Given the description of an element on the screen output the (x, y) to click on. 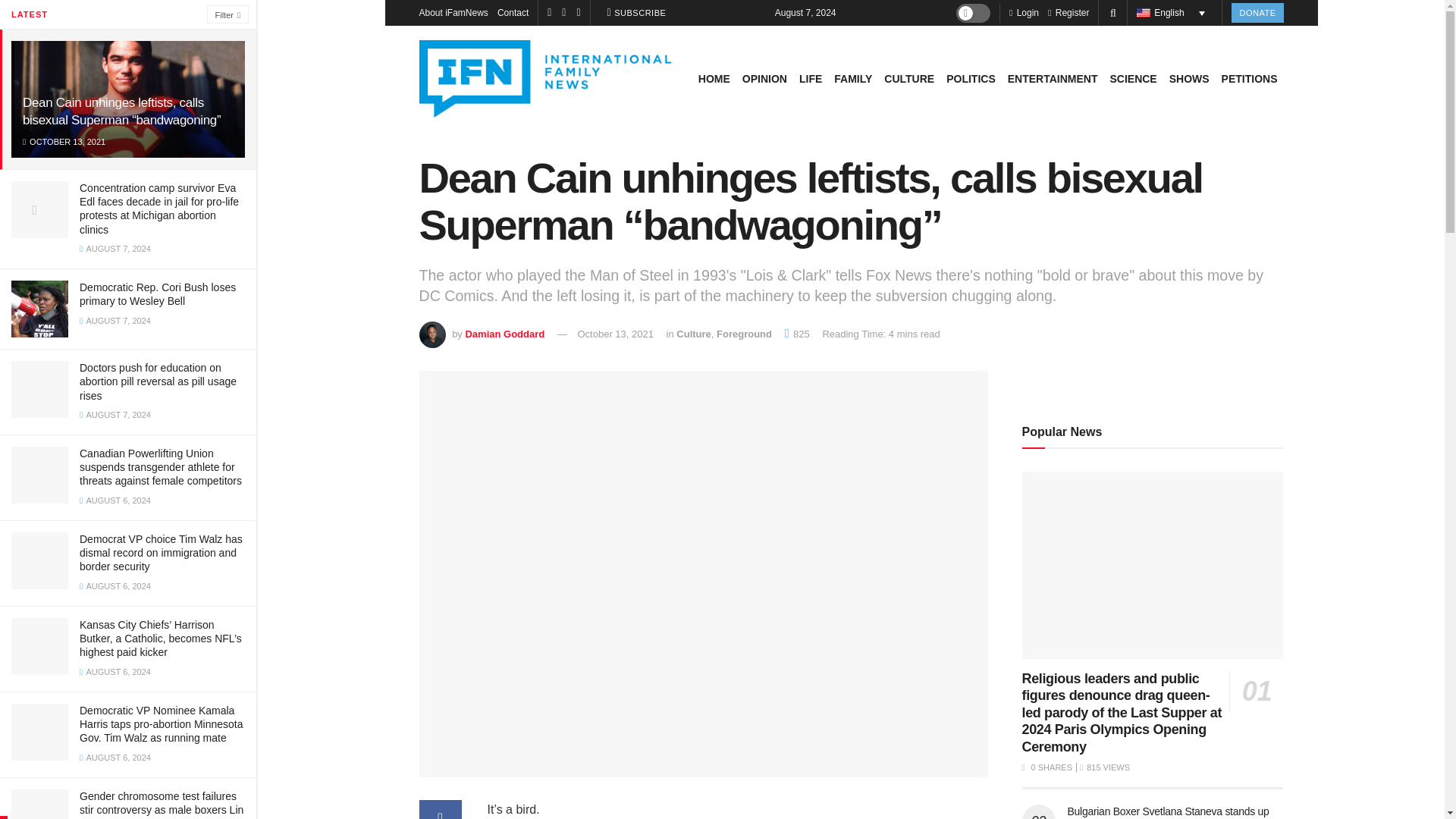
Contact (512, 12)
Register (1068, 12)
Login (1024, 12)
English (1174, 13)
Democratic Rep. Cori Bush loses primary to Wesley Bell (157, 294)
About iFamNews (453, 12)
SUBSCRIBE (636, 12)
Filter (227, 13)
